Given the description of an element on the screen output the (x, y) to click on. 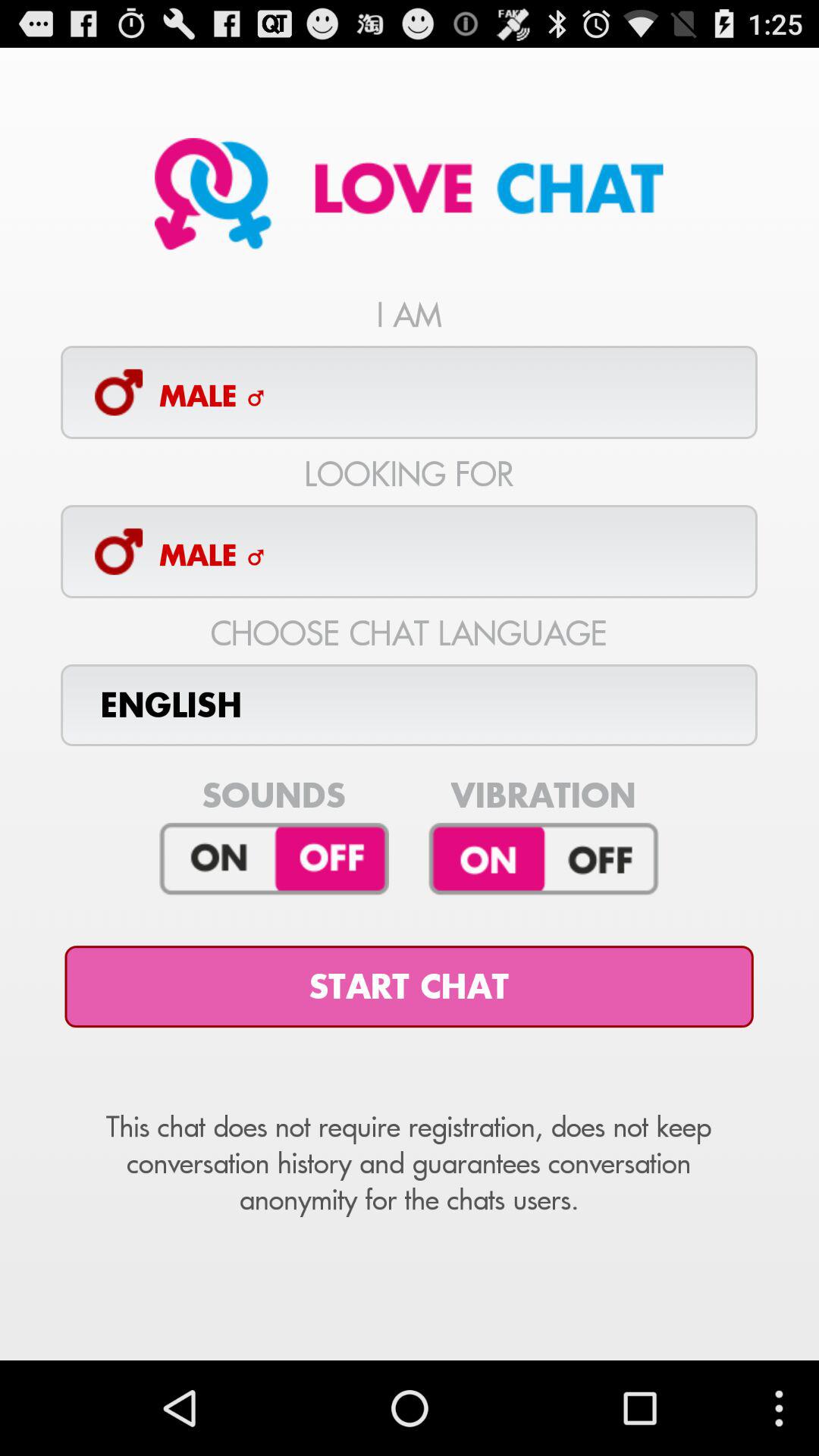
turn on/off vibration (543, 858)
